Given the description of an element on the screen output the (x, y) to click on. 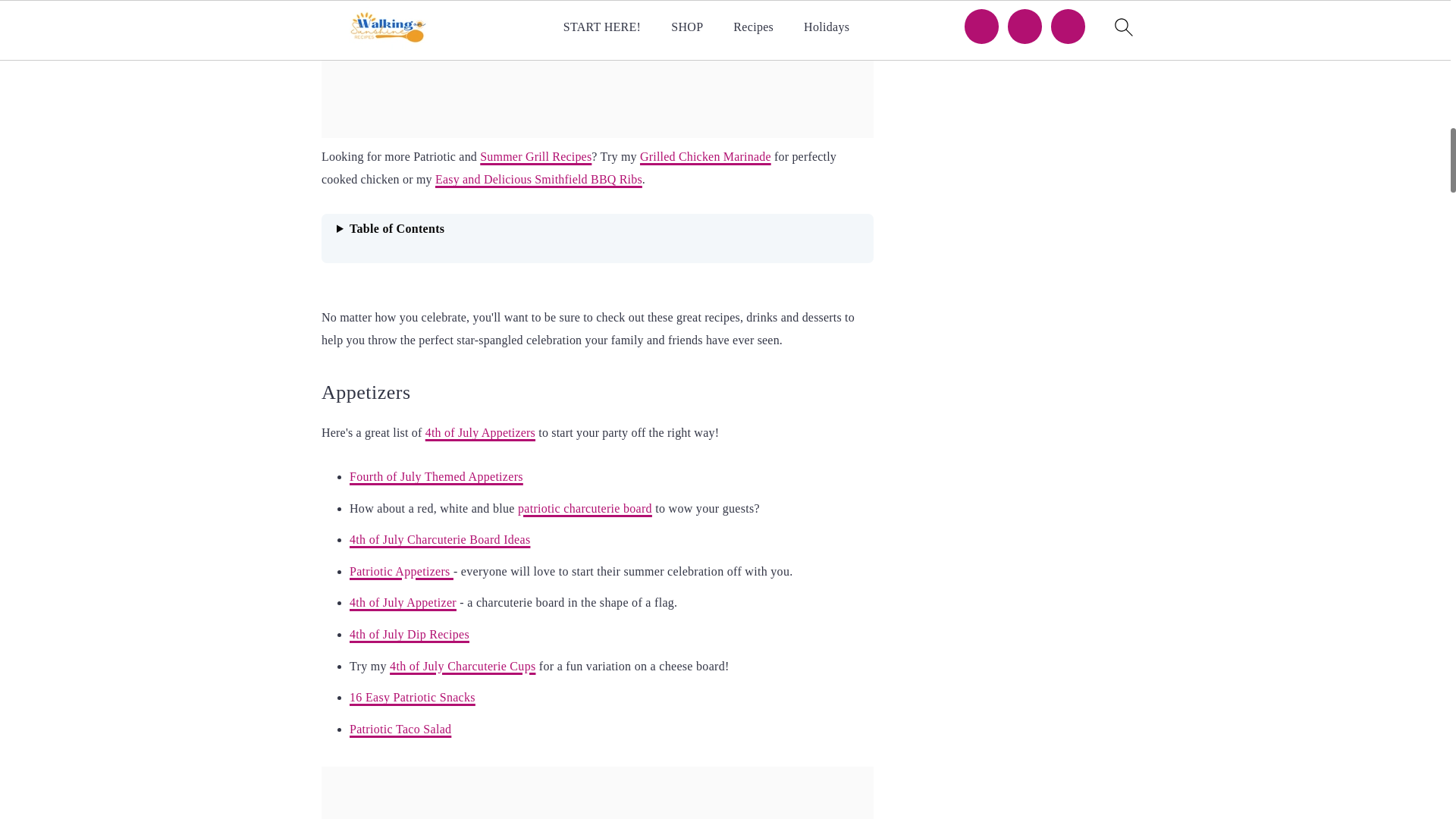
Easy and Delicious Smithfield BBQ Ribs (538, 178)
Grilled Chicken Marinade (705, 155)
Summer Grill Recipes (535, 155)
